Given the description of an element on the screen output the (x, y) to click on. 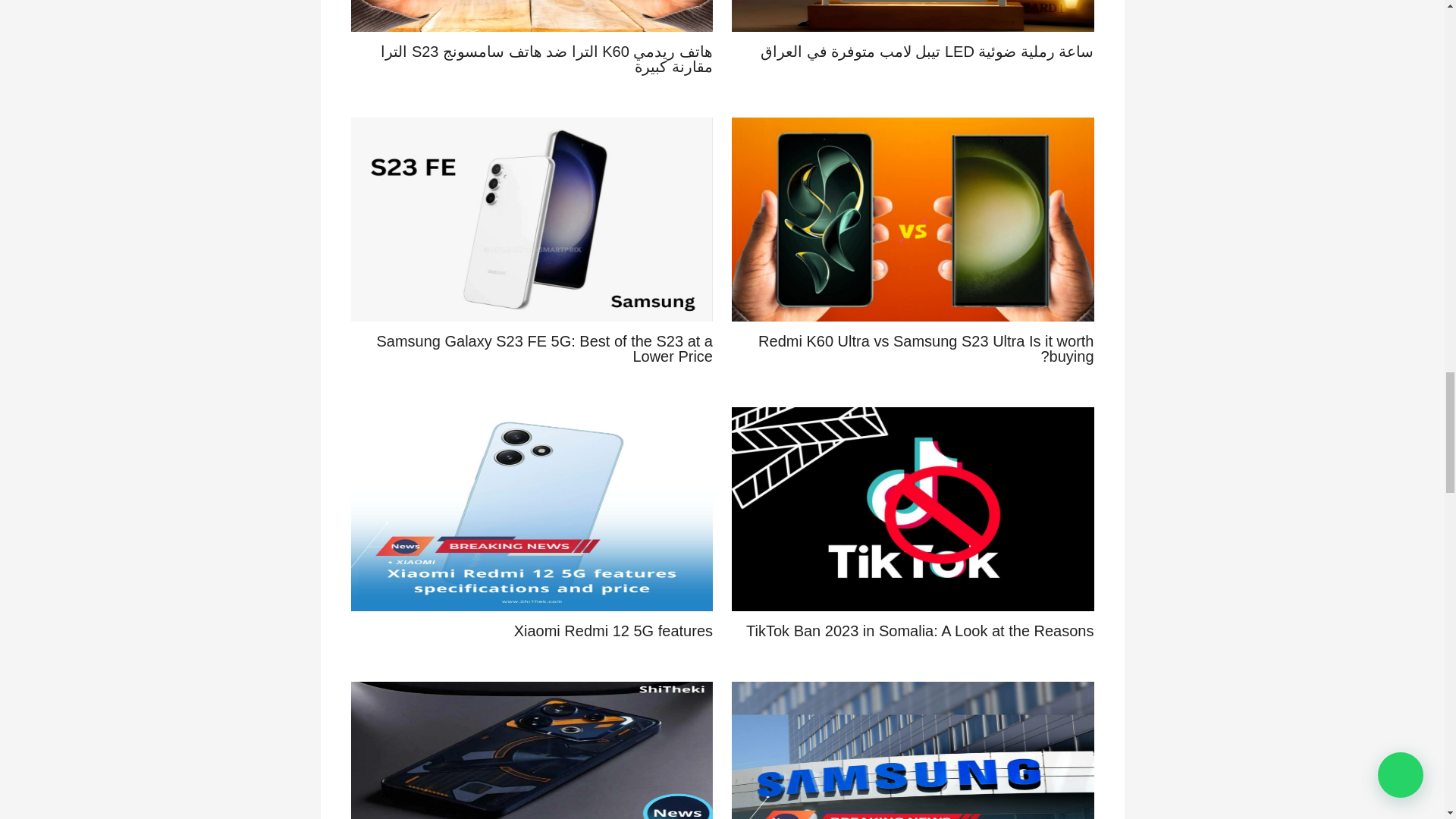
Xiaomi Redmi 12 5G features 8 (531, 508)
Redmi K60 Ultra vs Samsung S23 Ultra Is it worth buying? 5 (913, 219)
TikTok Ban 2023 in Somalia: A Look at the Reasons 7 (913, 508)
Samsung Galaxy S23 FE 5G: Best of the S23 at a Lower Price 6 (531, 219)
